Given the description of an element on the screen output the (x, y) to click on. 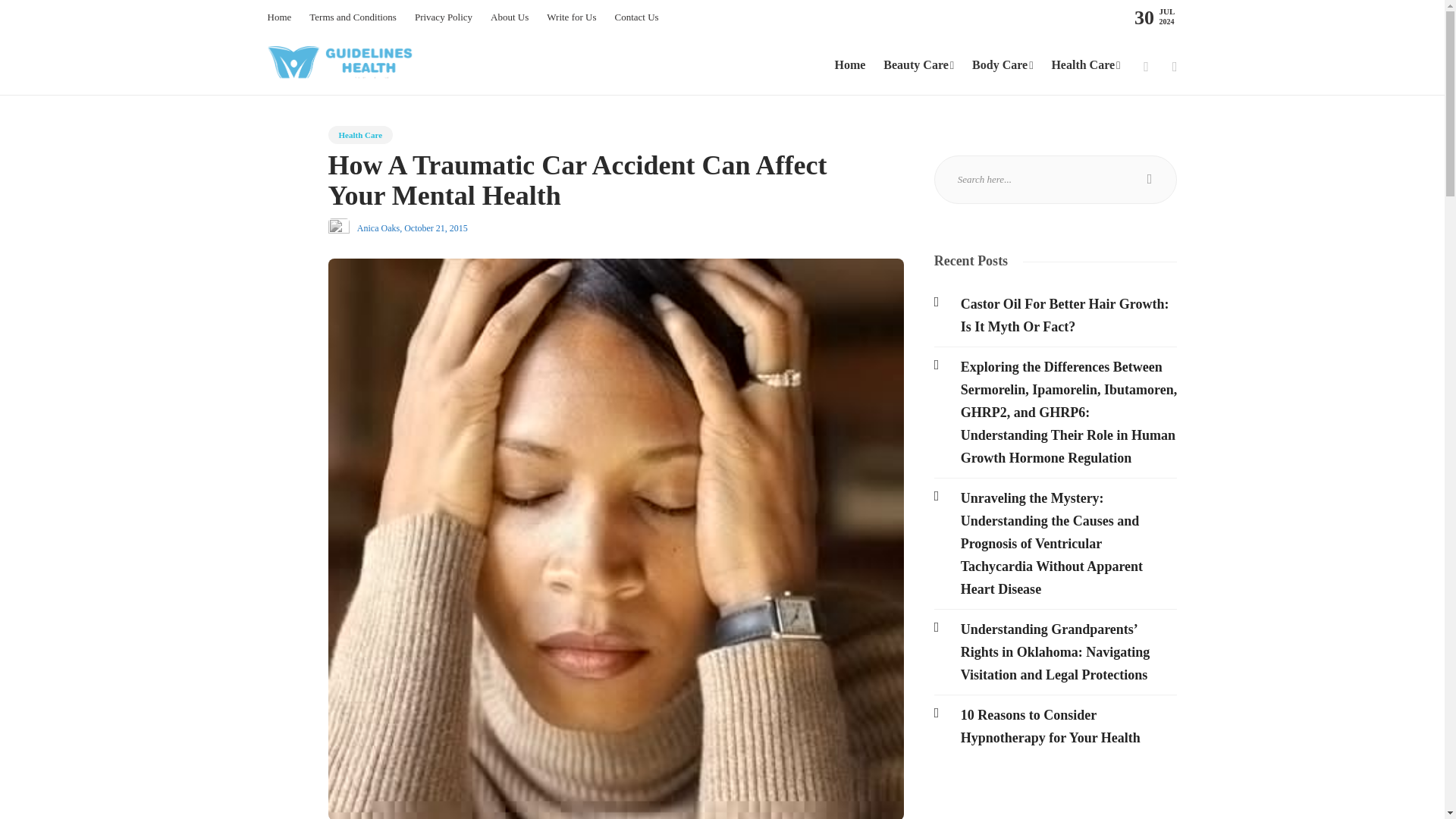
Search text (1055, 179)
Body Care (1002, 65)
Beauty Care (918, 65)
Privacy Policy (442, 17)
About Us (509, 17)
Health Care (360, 135)
Health Care (1085, 65)
How A Traumatic Car Accident Can Affect Your Mental Health (603, 183)
Write for Us (571, 17)
Terms and Conditions (352, 17)
October 21, 2015 (435, 227)
Anica Oaks (377, 227)
Contact Us (636, 17)
